Given the description of an element on the screen output the (x, y) to click on. 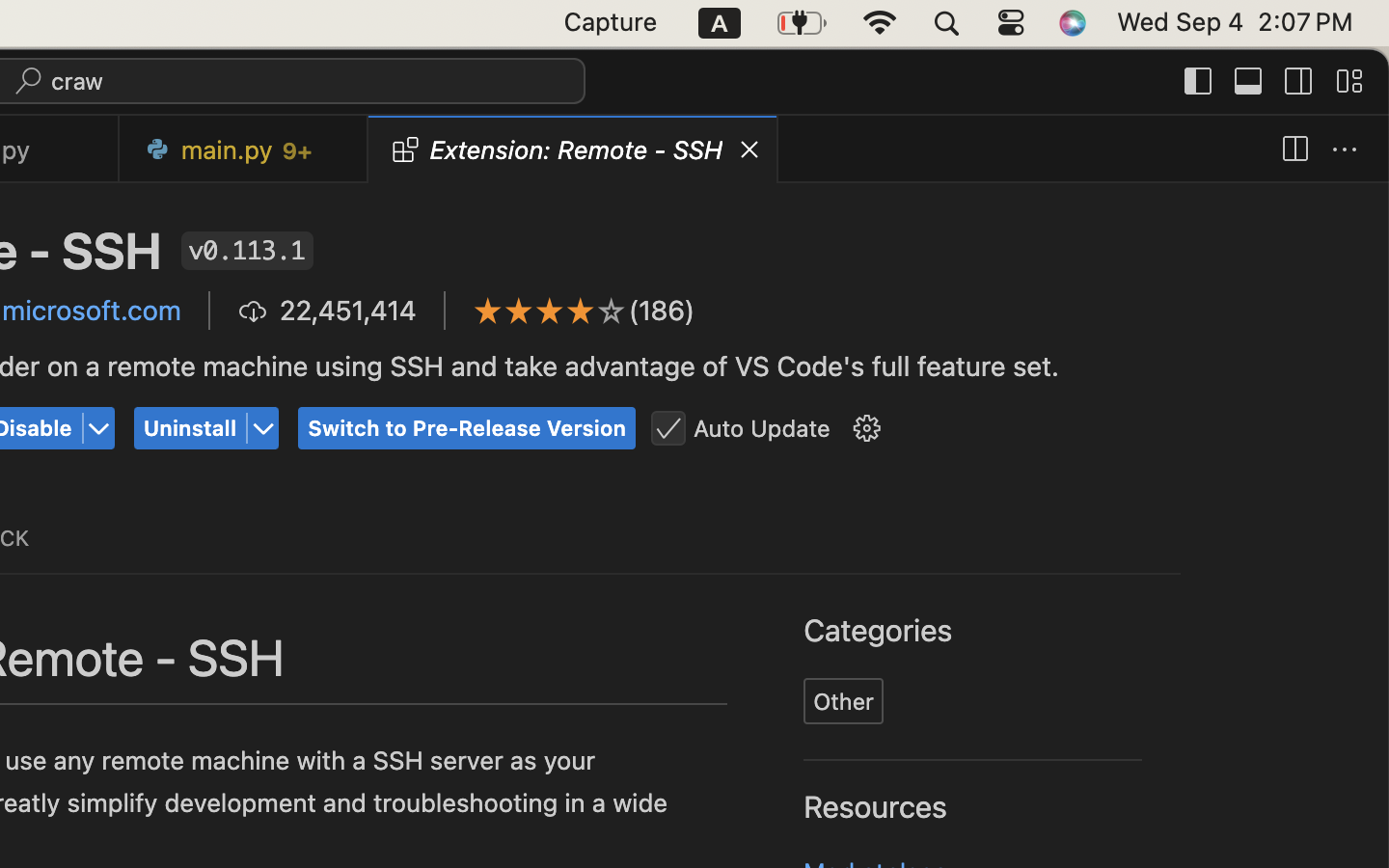
 Element type: AXButton (1294, 150)
 Element type: AXStaticText (611, 310)
